Given the description of an element on the screen output the (x, y) to click on. 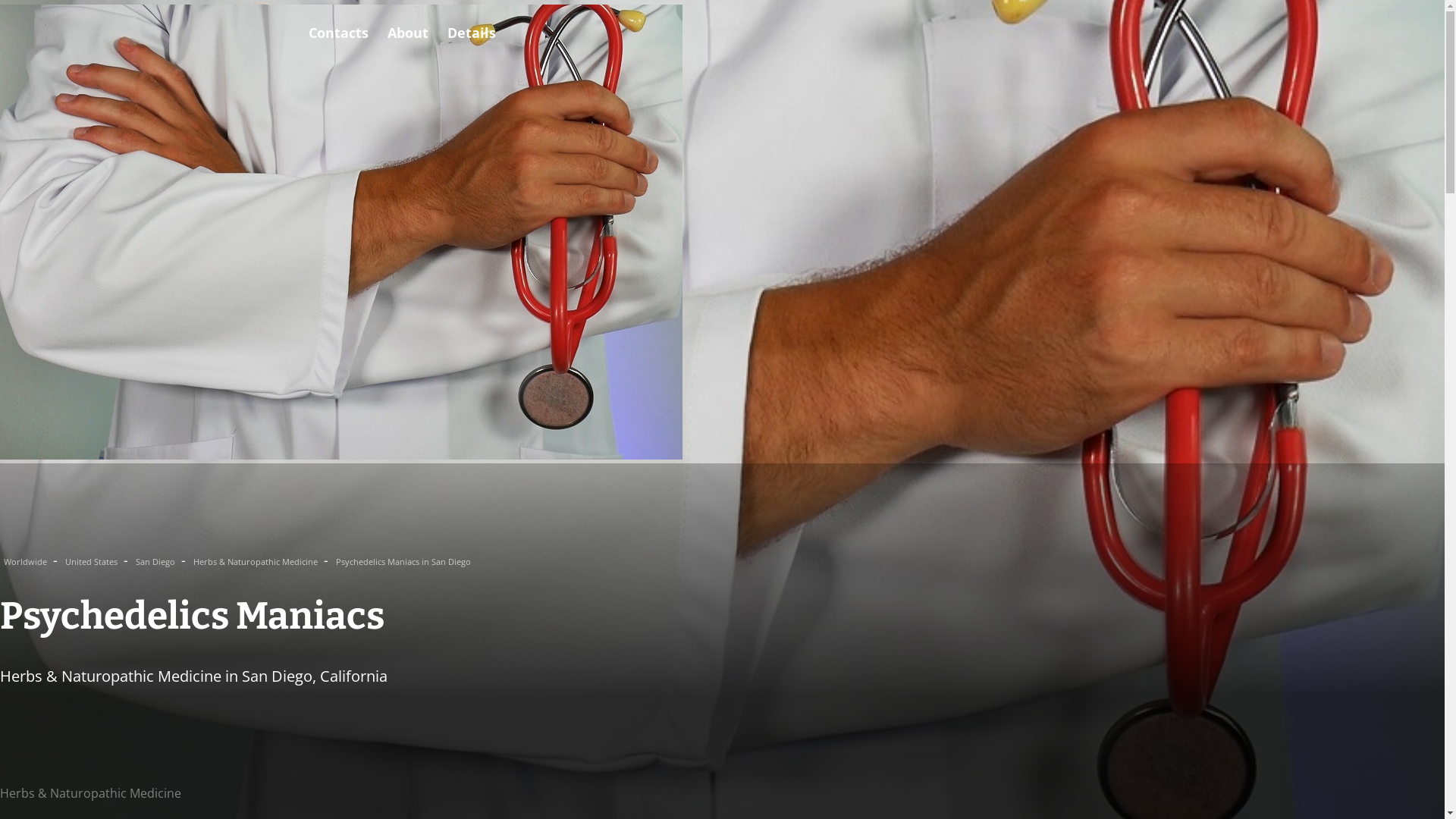
Worldwide Element type: text (26, 561)
Contacts Element type: text (338, 32)
Psychedelics Maniacs in San Diego Element type: text (402, 561)
Add Business Element type: text (135, 80)
United States Element type: text (92, 561)
Herbs & Naturopathic Medicine Element type: text (256, 561)
About Element type: text (407, 32)
Log In Element type: text (37, 80)
Details Element type: text (471, 32)
Advertisement Element type: hover (455, 737)
2FL Element type: text (21, 29)
San Diego Element type: text (156, 561)
